Given the description of an element on the screen output the (x, y) to click on. 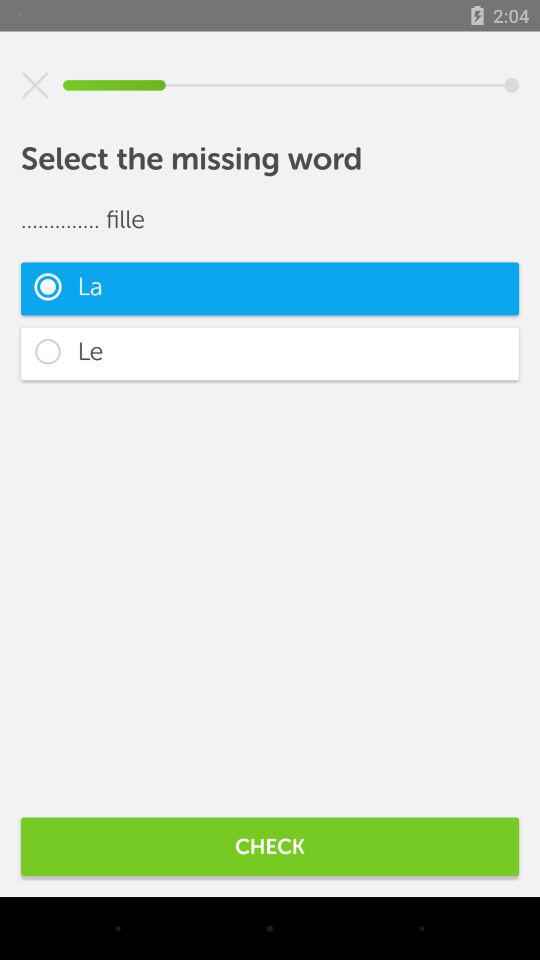
tap the icon above the select the missing icon (35, 85)
